Given the description of an element on the screen output the (x, y) to click on. 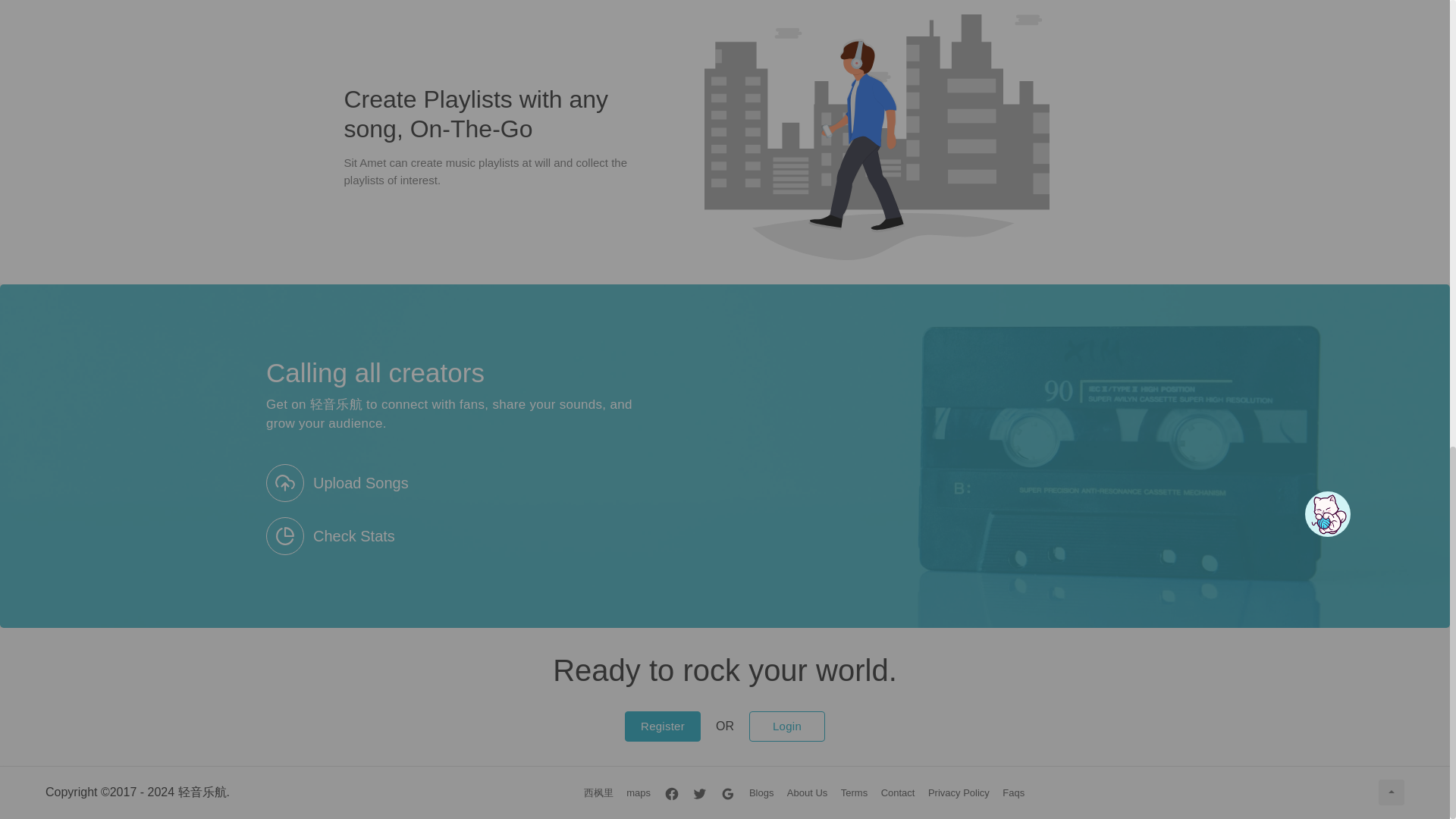
Blogs (761, 792)
Faqs (1013, 792)
Privacy Policy (958, 792)
Contact (898, 792)
Login (787, 726)
About Us (806, 792)
Terms (853, 792)
maps (638, 792)
Register (662, 726)
